Given the description of an element on the screen output the (x, y) to click on. 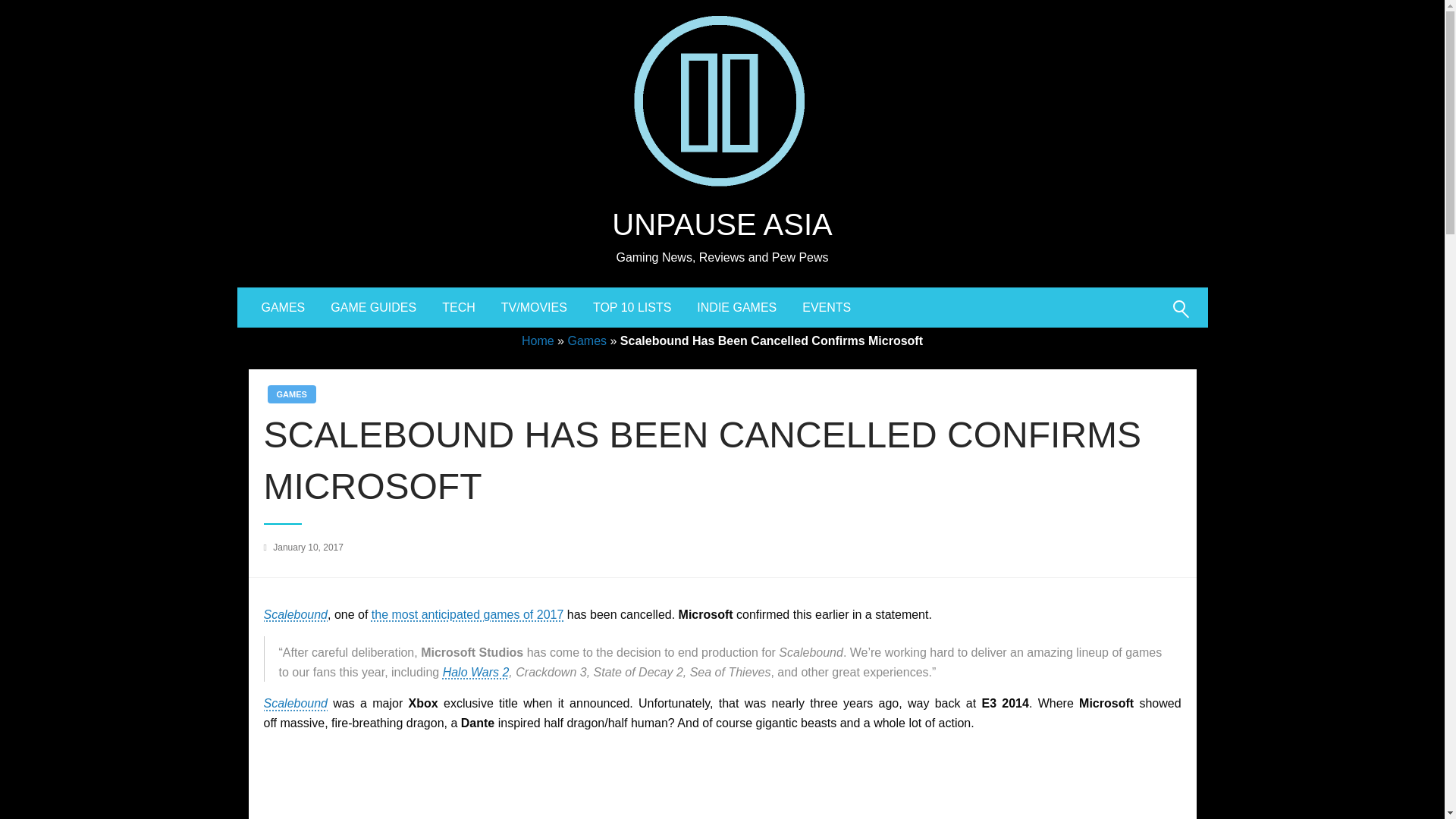
Search (1144, 318)
GAME GUIDES (373, 307)
Games (587, 340)
GAMES (290, 393)
Scalebound (296, 614)
Home (537, 340)
EVENTS (826, 307)
UNPAUSE ASIA (721, 224)
the most anticipated games of 2017 (467, 614)
TOP 10 LISTS (631, 307)
Halo Wars 2 (475, 671)
Scalebound Trailer - Platinum Games Xbox One Exclusive (721, 782)
Scalebound (296, 703)
GAMES (283, 307)
January 10, 2017 (308, 547)
